Given the description of an element on the screen output the (x, y) to click on. 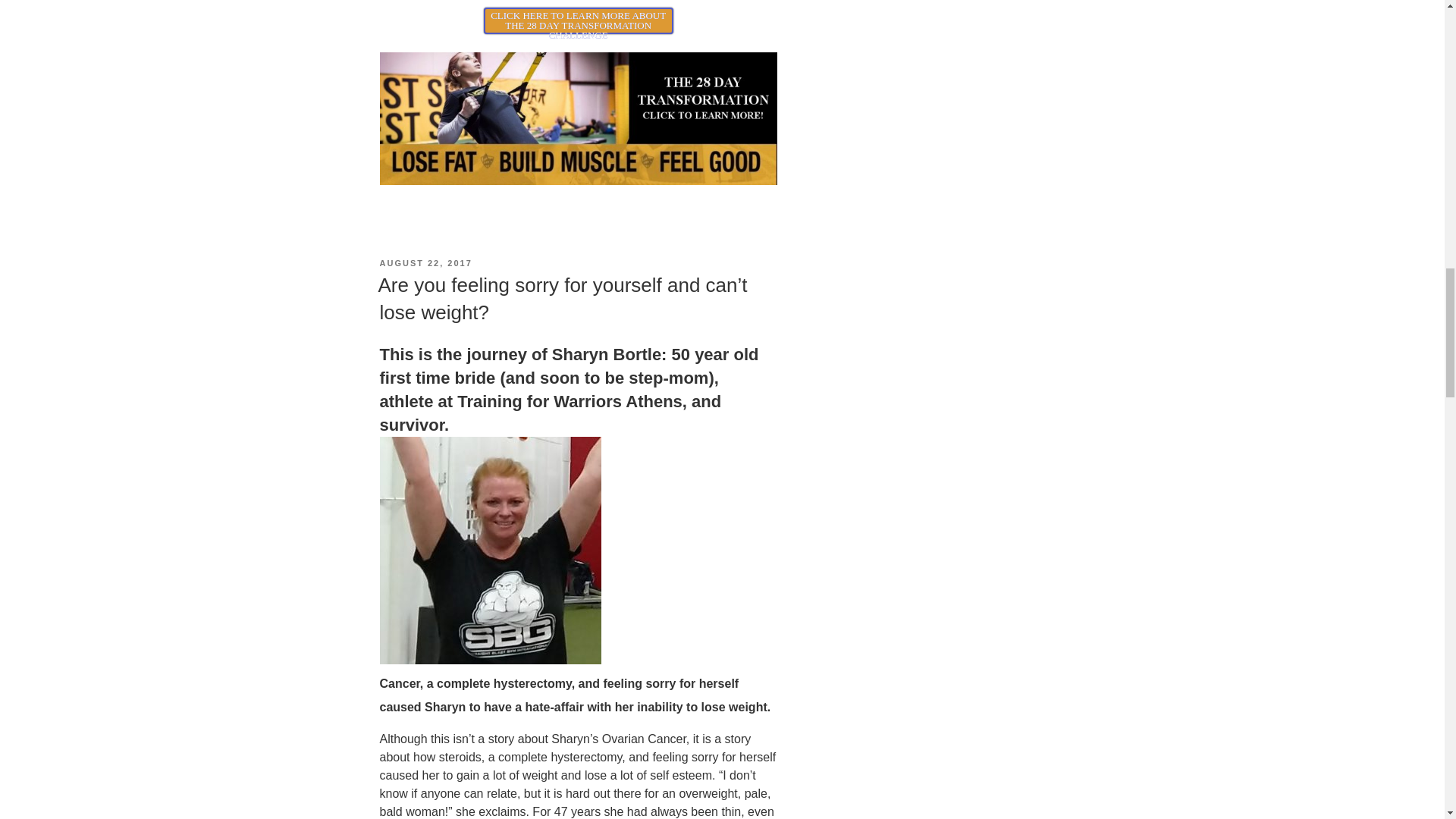
AUGUST 22, 2017 (424, 262)
